Given the description of an element on the screen output the (x, y) to click on. 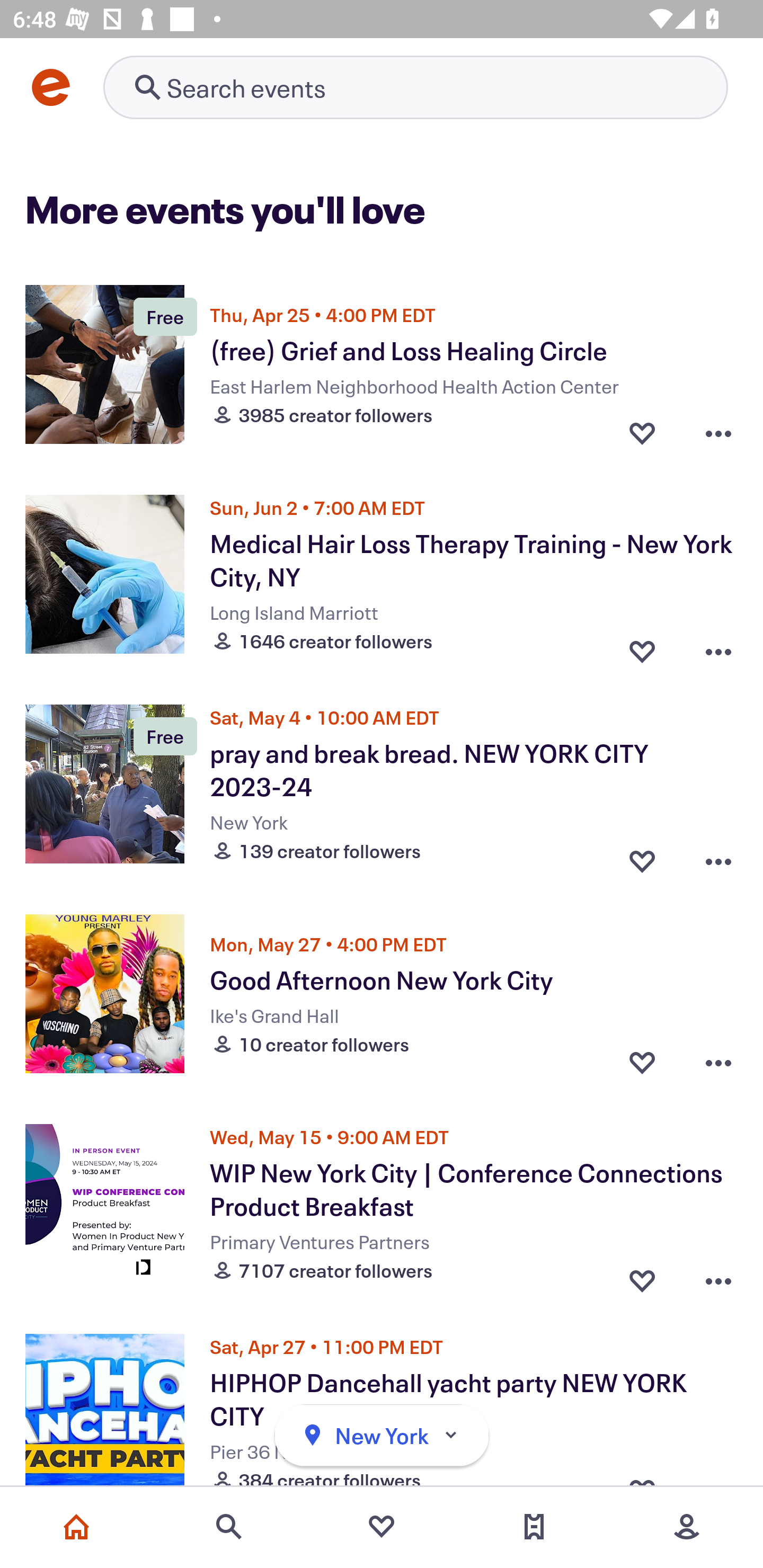
Retry's image Search events (415, 86)
Favorite button (642, 431)
Overflow menu button (718, 431)
Favorite button (642, 646)
Overflow menu button (718, 646)
Favorite button (642, 856)
Overflow menu button (718, 856)
Favorite button (642, 1062)
Overflow menu button (718, 1062)
Favorite button (642, 1275)
Overflow menu button (718, 1275)
New York (381, 1435)
Home (76, 1526)
Search events (228, 1526)
Favorites (381, 1526)
Tickets (533, 1526)
More (686, 1526)
